Given the description of an element on the screen output the (x, y) to click on. 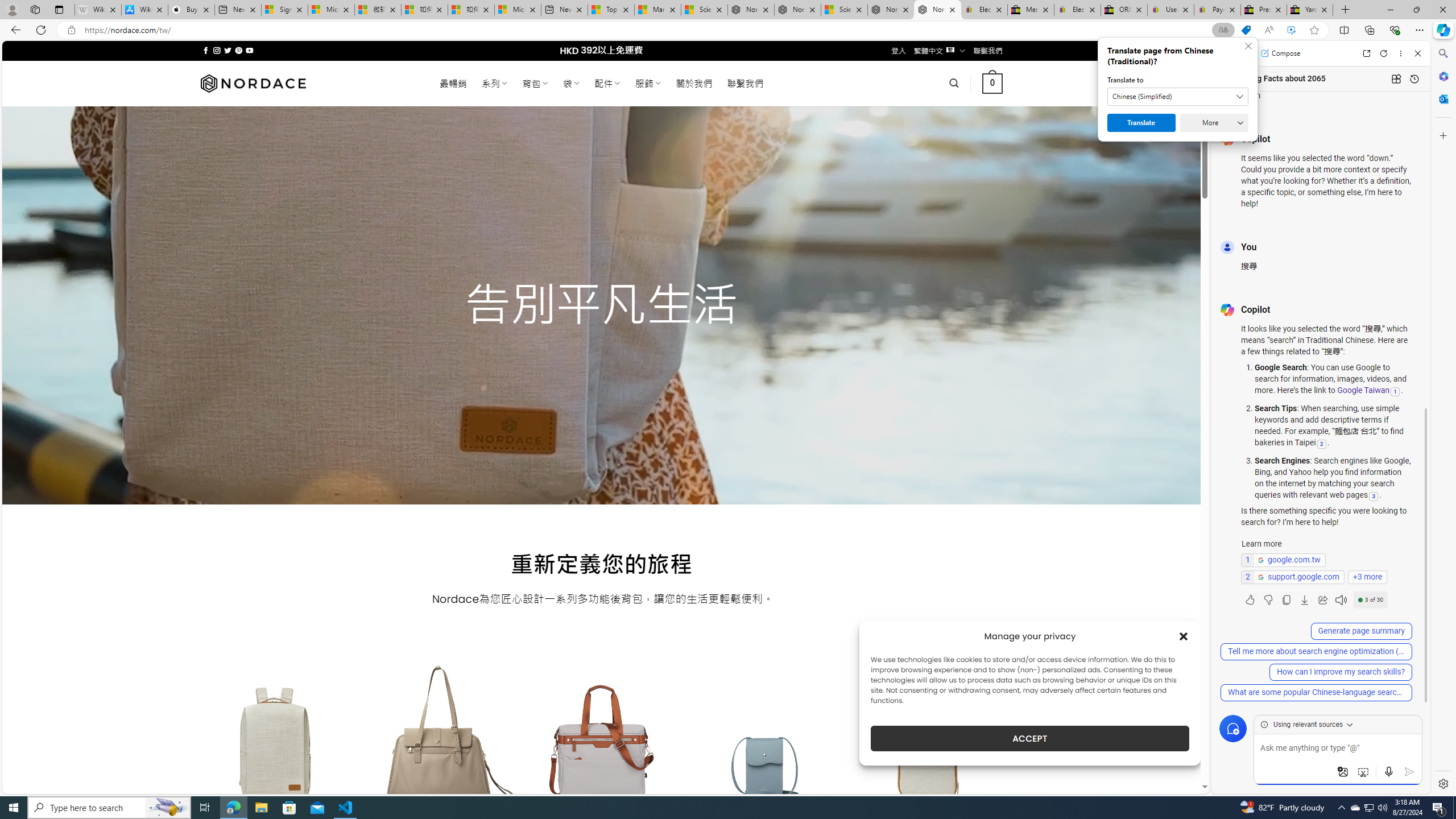
Follow on Pinterest (237, 50)
Yard, Garden & Outdoor Living (1309, 9)
